Given the description of an element on the screen output the (x, y) to click on. 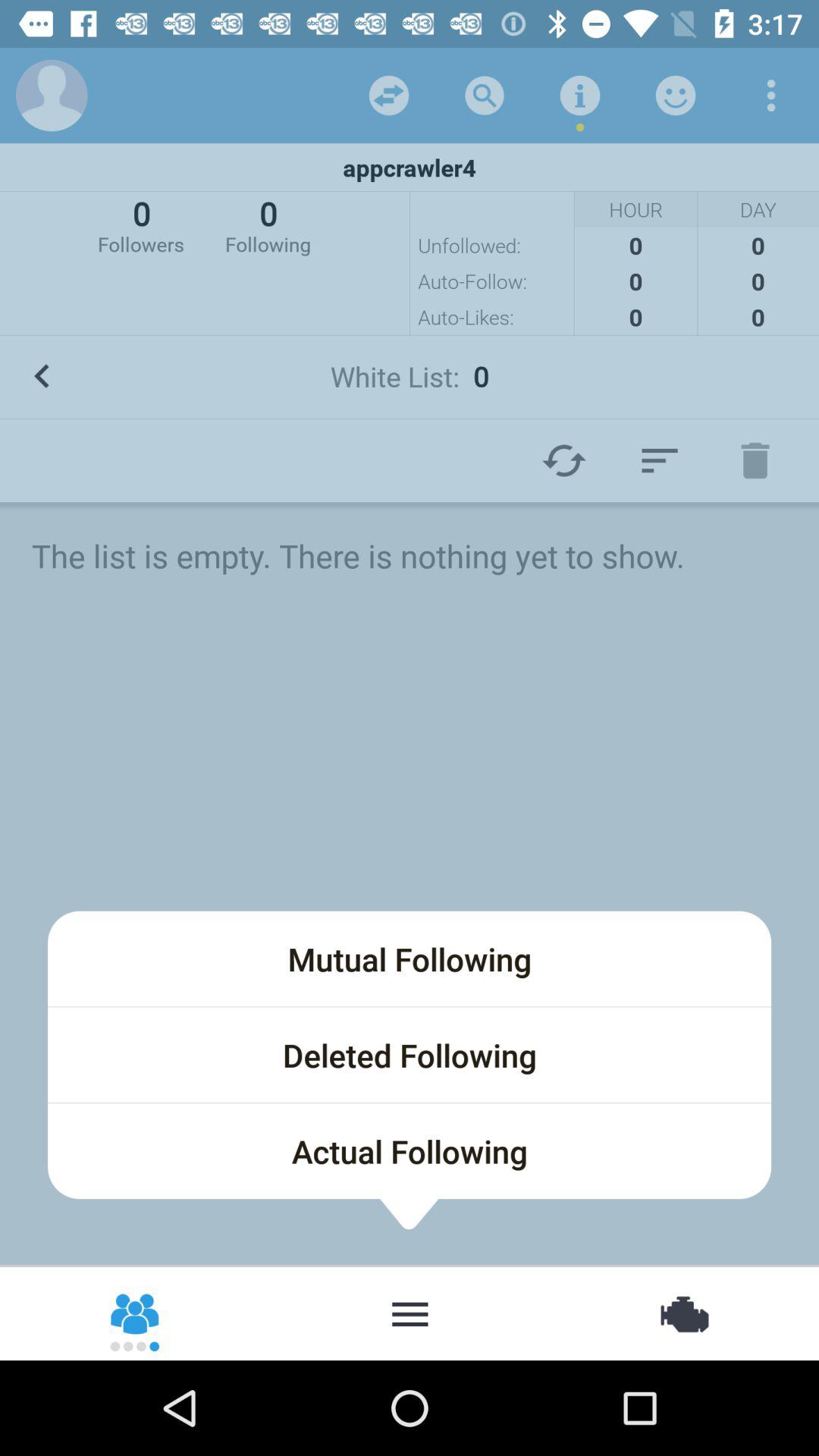
search followers (409, 1312)
